Given the description of an element on the screen output the (x, y) to click on. 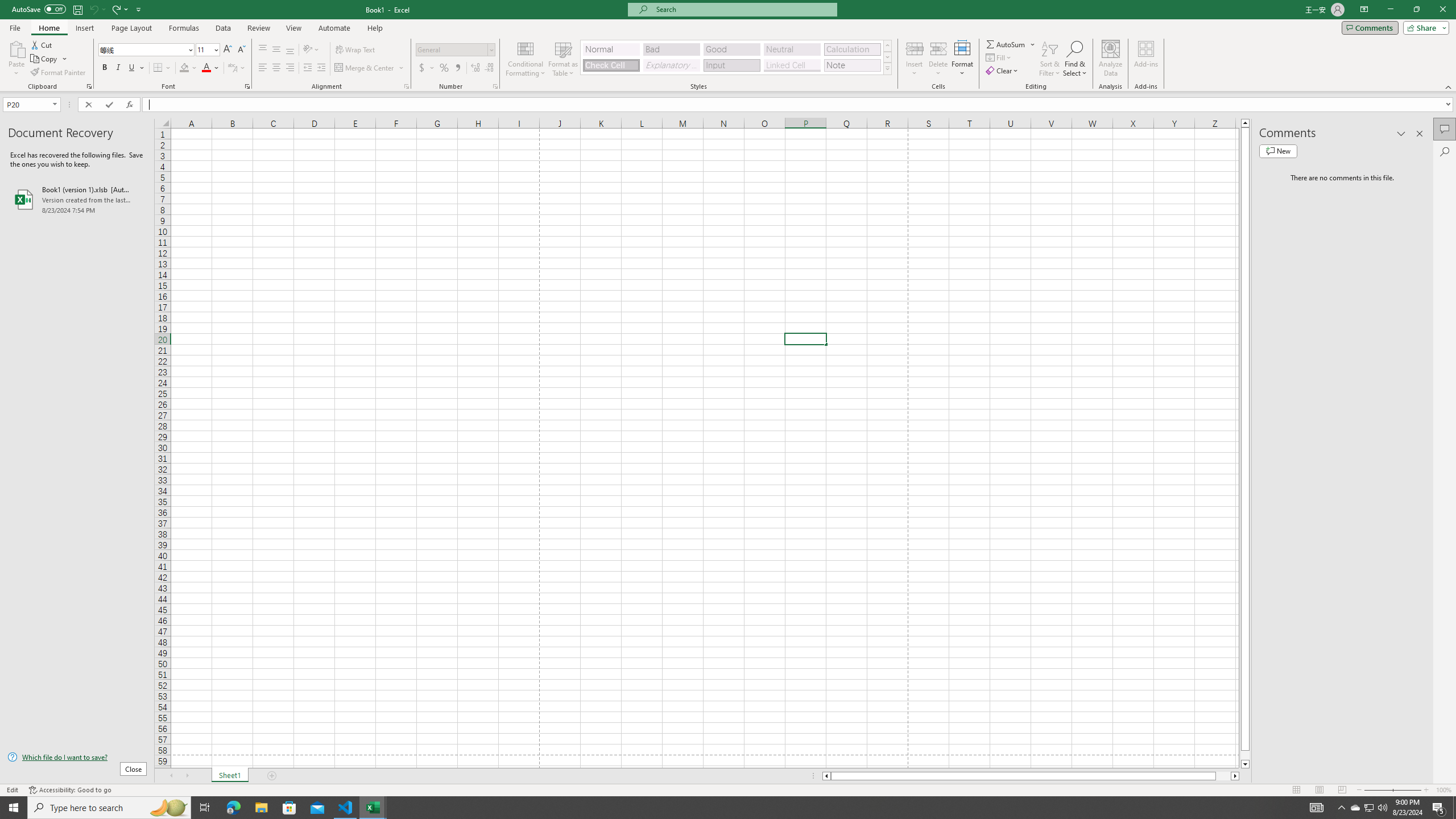
Cell Styles (887, 68)
Copy (45, 58)
Find & Select (1075, 58)
Increase Font Size (227, 49)
Fill (999, 56)
Decrease Indent (307, 67)
